Given the description of an element on the screen output the (x, y) to click on. 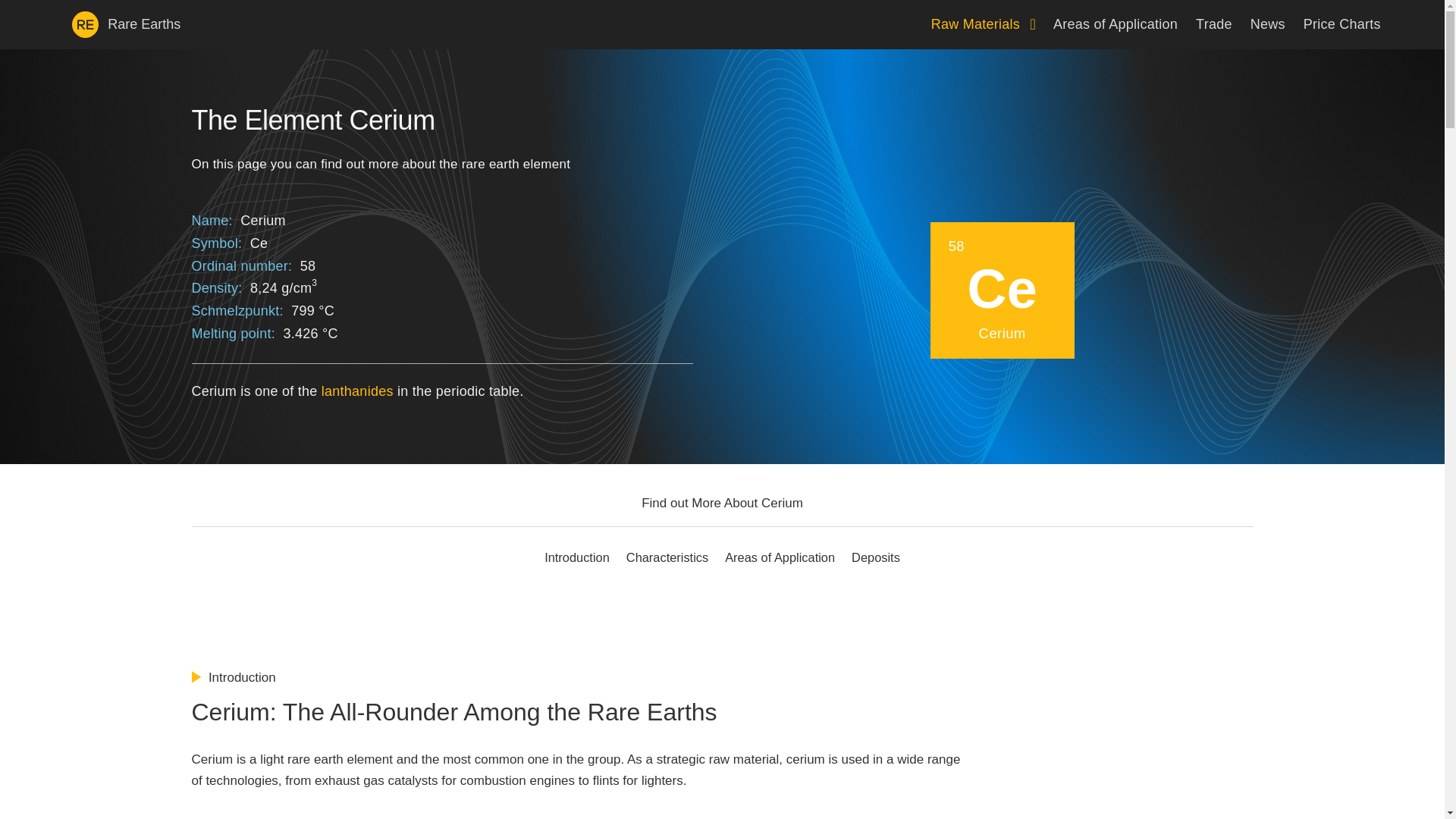
News (1267, 24)
Areas of Application (1114, 24)
Raw Materials (983, 24)
Trade (1213, 24)
Price Charts (1341, 24)
